Given the description of an element on the screen output the (x, y) to click on. 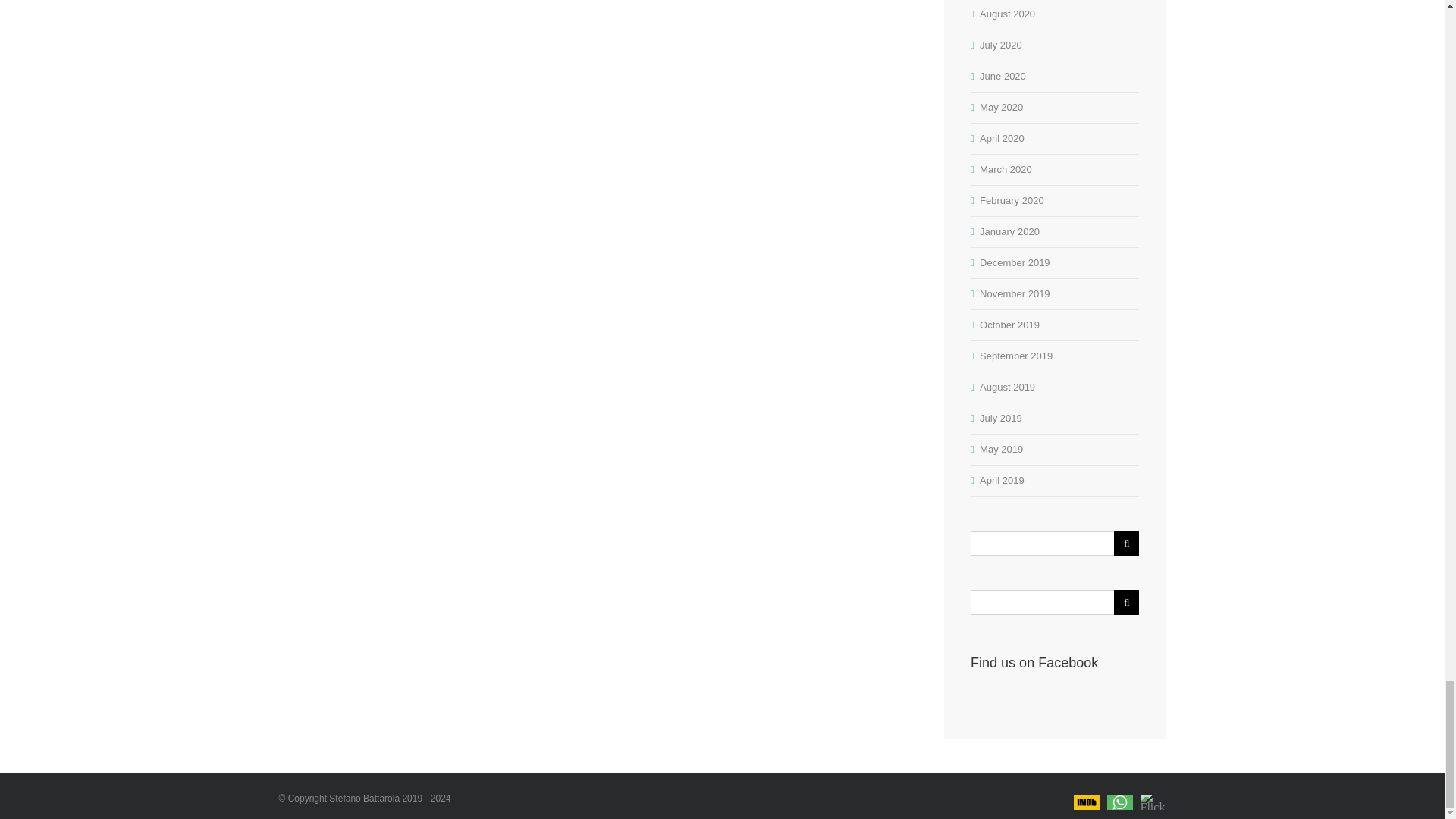
Flickr (1153, 792)
IMBb (1086, 792)
WhatsApp (1119, 792)
